Given the description of an element on the screen output the (x, y) to click on. 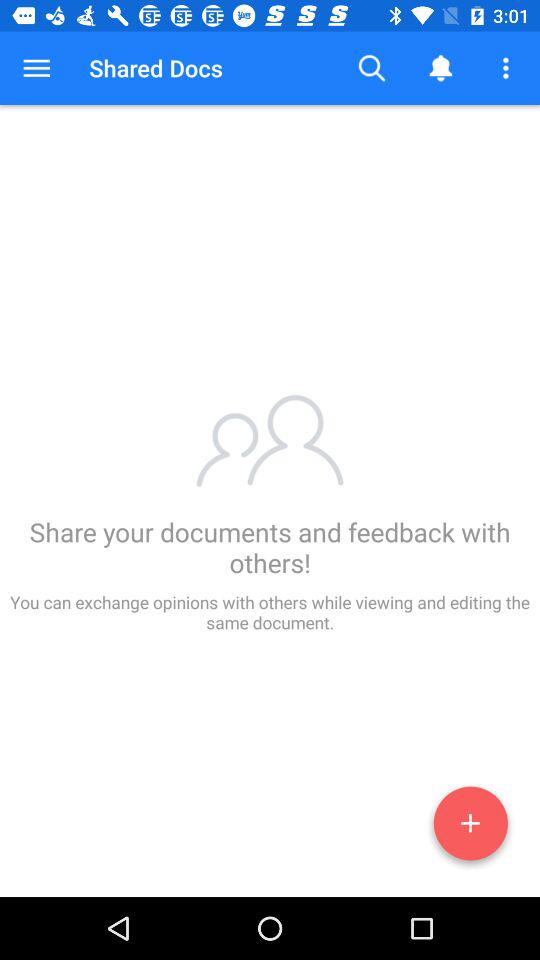
select the shared docs item (155, 68)
